Given the description of an element on the screen output the (x, y) to click on. 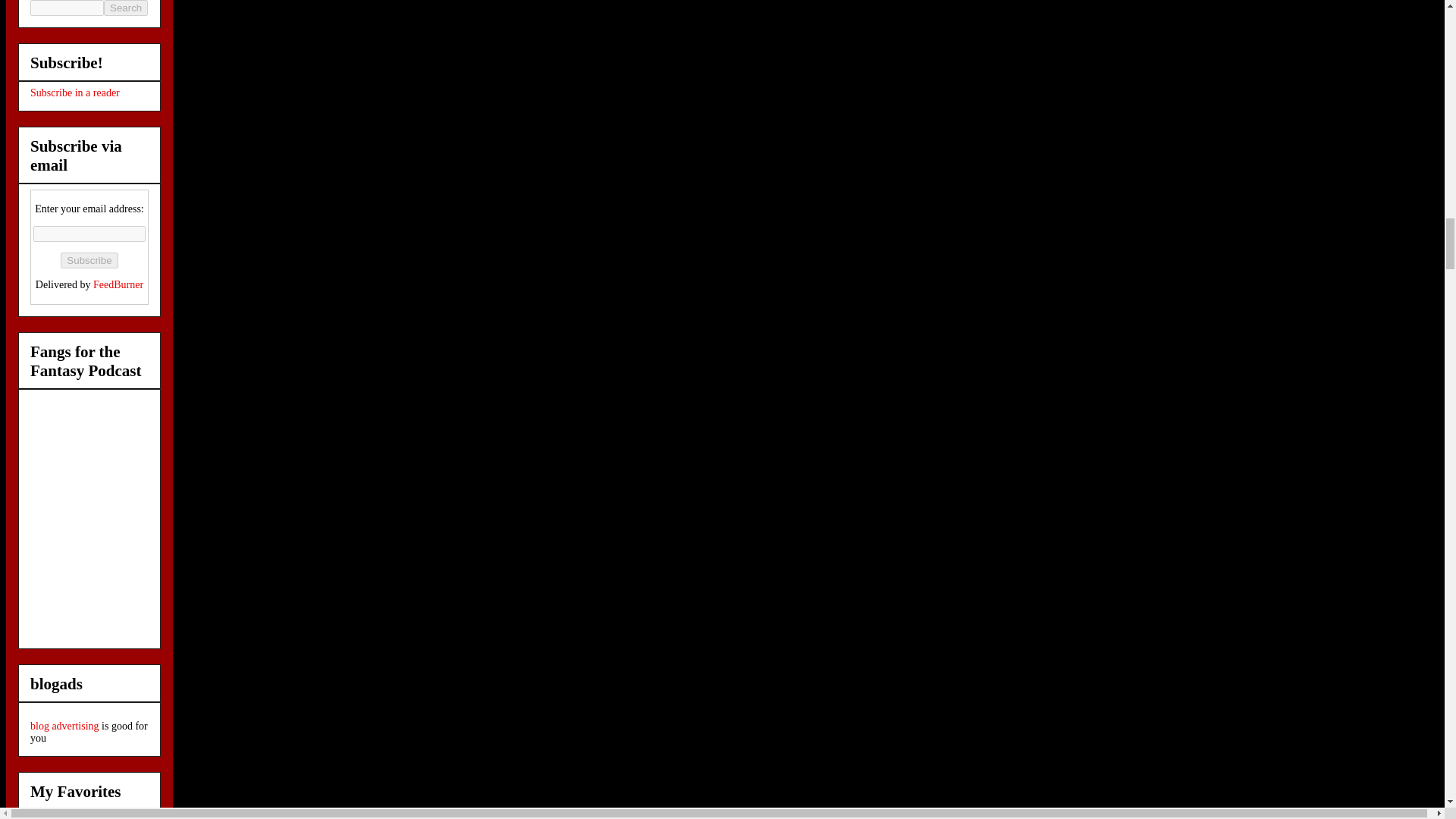
search (66, 7)
Search (125, 7)
Subscribe (89, 260)
search (125, 7)
Search (125, 7)
Subscribe to my feed (74, 92)
